Given the description of an element on the screen output the (x, y) to click on. 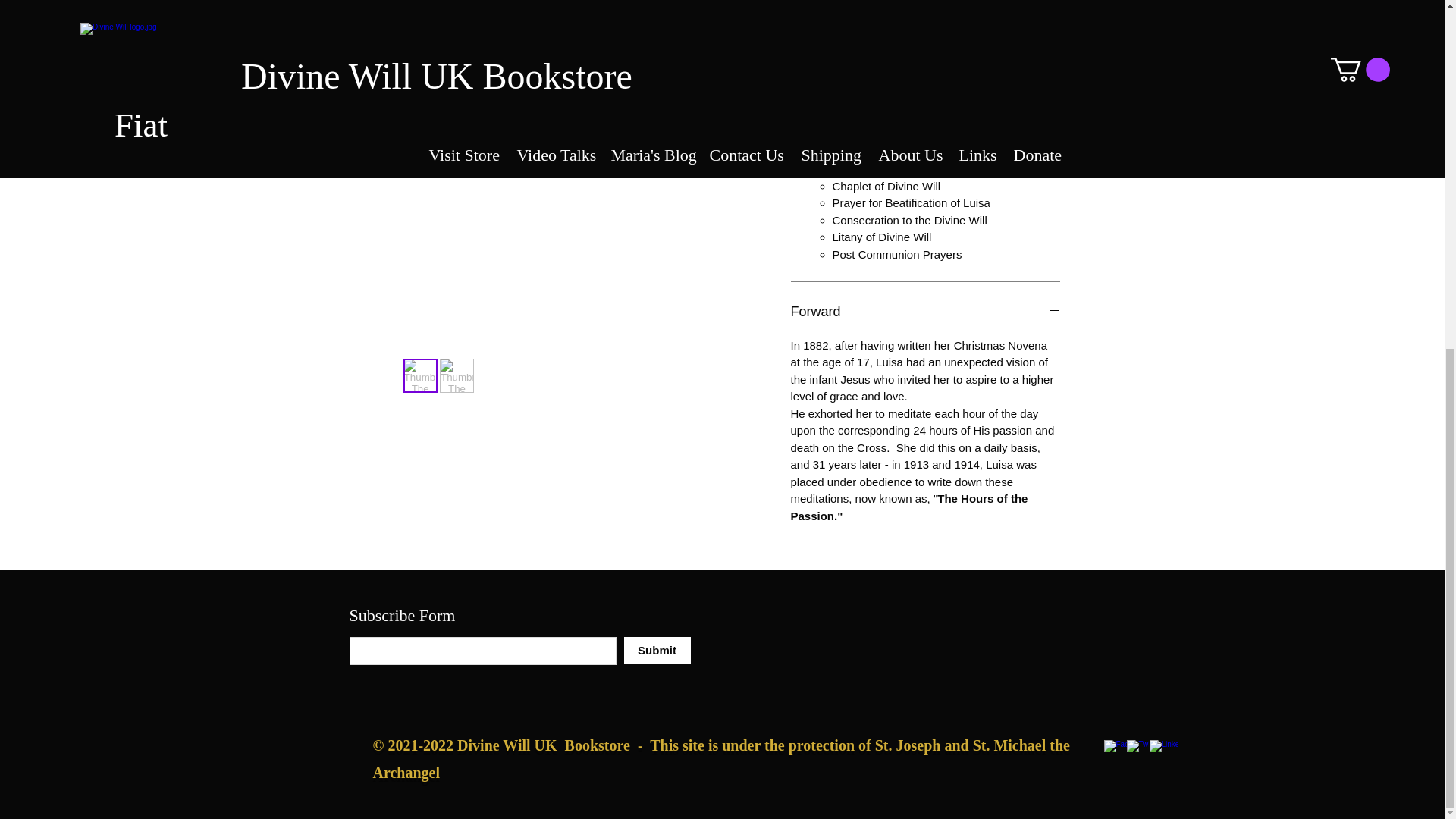
Submit (656, 650)
Forward (924, 312)
Contents (924, 16)
